Given the description of an element on the screen output the (x, y) to click on. 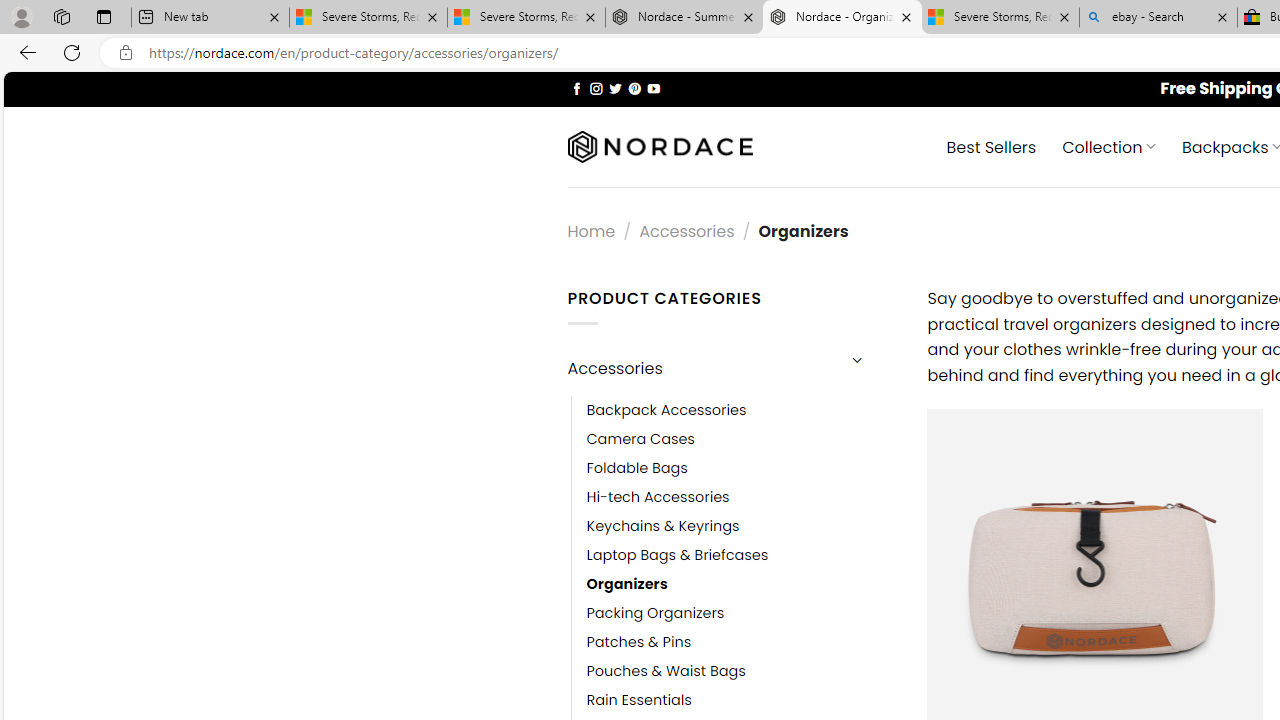
Camera Cases (742, 439)
Backpack Accessories (666, 409)
Foldable Bags (637, 467)
Back (24, 52)
Hi-tech Accessories (657, 496)
Hi-tech Accessories (742, 496)
Packing Organizers (655, 614)
Organizers (742, 584)
Nordace (659, 147)
View site information (125, 53)
Close tab (1222, 16)
Packing Organizers (742, 614)
Pouches & Waist Bags (742, 671)
Keychains & Keyrings (662, 526)
